Given the description of an element on the screen output the (x, y) to click on. 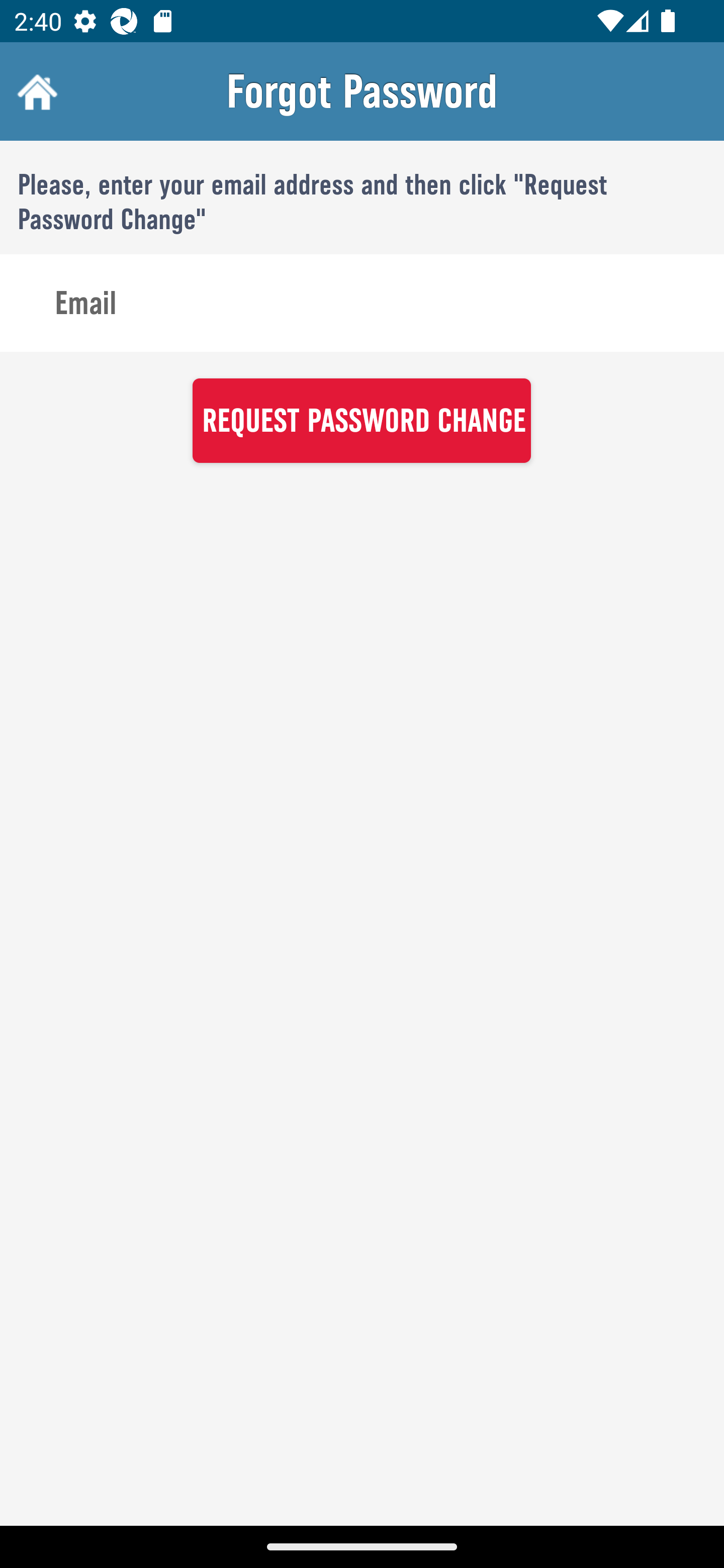
Home (35, 91)
Email (361, 303)
REQUEST PASSWORD CHANGE (361, 419)
